Given the description of an element on the screen output the (x, y) to click on. 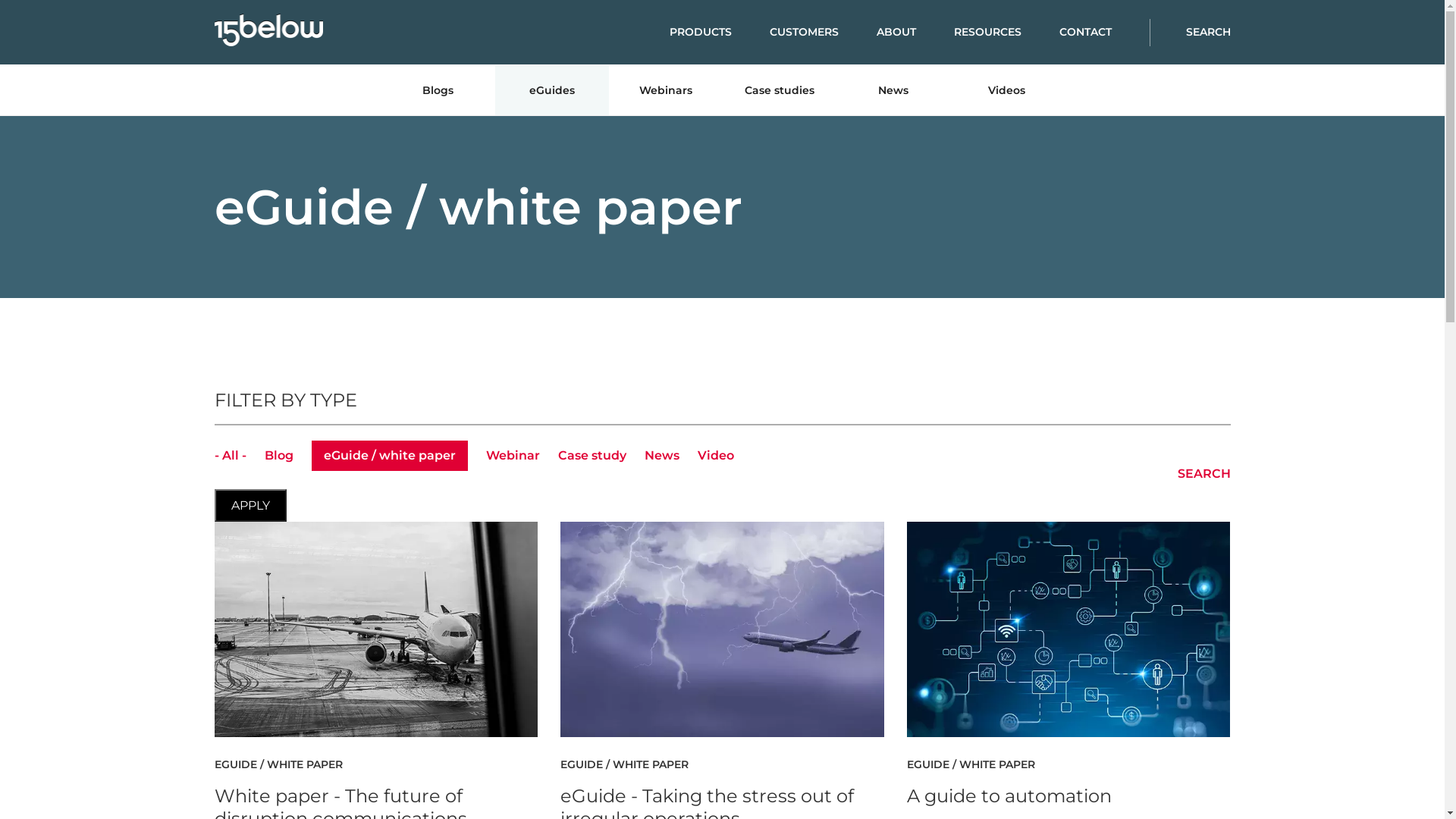
Blogs Element type: text (437, 90)
Case studies Element type: text (778, 90)
Videos Element type: text (1006, 90)
Apply Element type: text (249, 505)
Webinar Element type: text (512, 455)
RESOURCES Element type: text (1006, 32)
News Element type: text (892, 90)
ABOUT Element type: text (914, 32)
News Element type: text (661, 455)
Case study Element type: text (592, 455)
PRODUCTS Element type: text (718, 32)
SEARCH Element type: text (1201, 32)
Webinars Element type: text (664, 90)
Blog Element type: text (277, 455)
- All - Element type: text (229, 455)
eGuides Element type: text (551, 90)
SEARCH Element type: text (1185, 473)
eGuide / white paper Element type: text (388, 455)
Skip to main content Element type: text (0, 0)
CONTACT Element type: text (1103, 32)
CUSTOMERS Element type: text (821, 32)
Video Element type: text (715, 455)
